Given the description of an element on the screen output the (x, y) to click on. 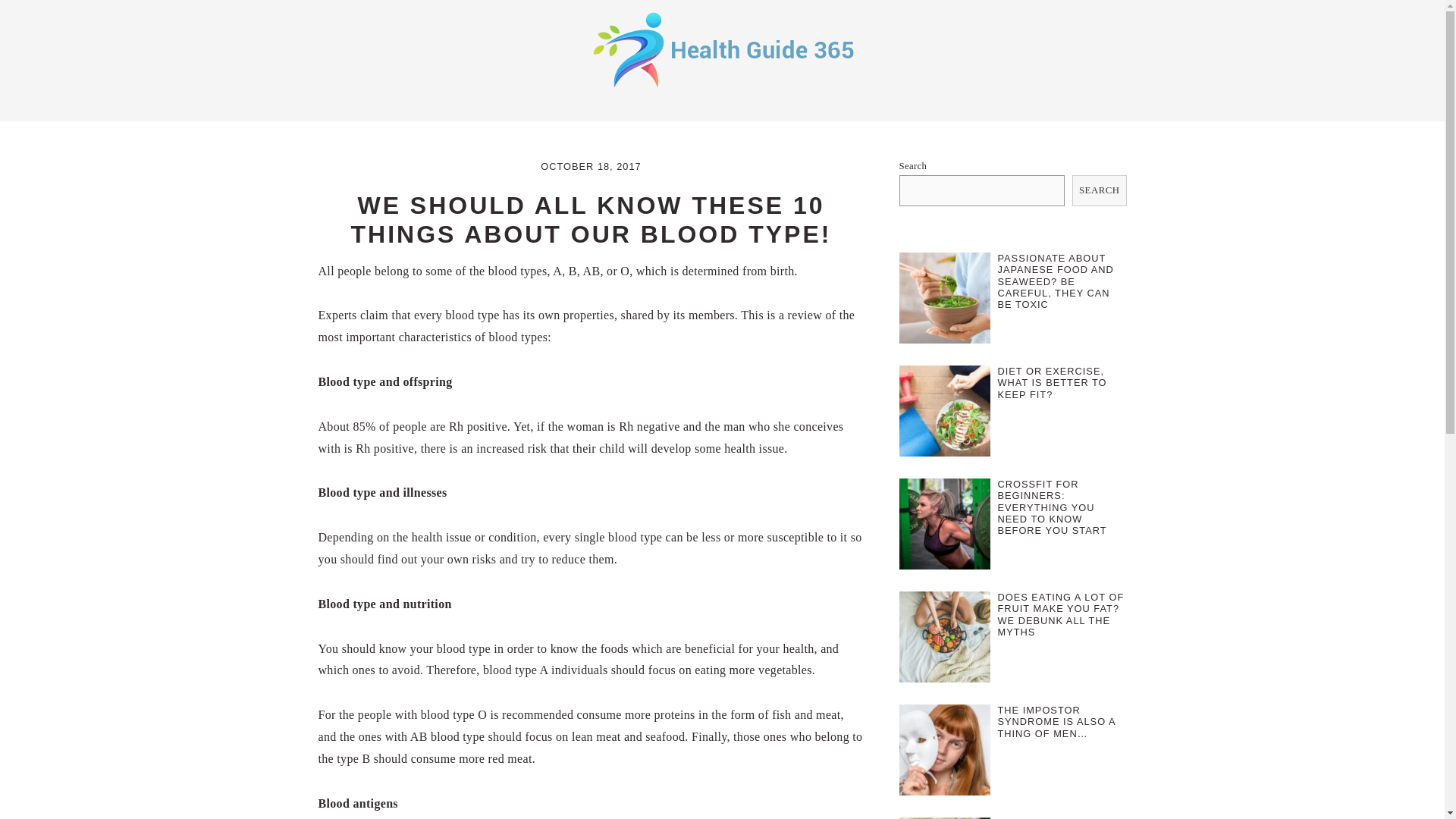
SEARCH (1098, 190)
7 healthy and nutritious dishes for the whole week (944, 818)
Diet or exercise, what is better to keep fit? (944, 413)
Health Guide 365 (722, 89)
7 HEALTHY AND NUTRITIOUS DISHES FOR THE WHOLE WEEK (1060, 818)
DIET OR EXERCISE, WHAT IS BETTER TO KEEP FIT? (1051, 382)
Health Guide 365 (722, 48)
